Given the description of an element on the screen output the (x, y) to click on. 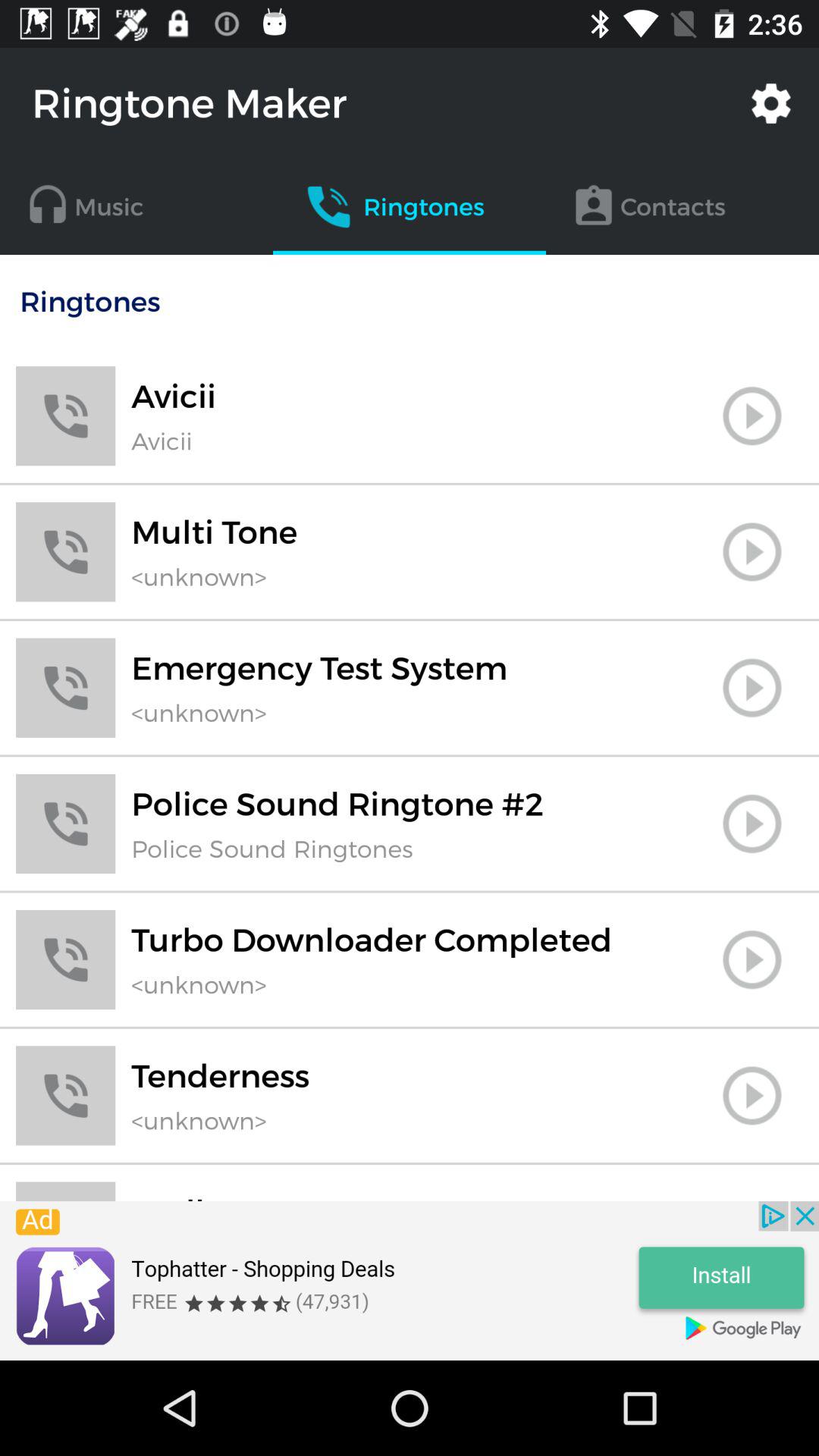
play page (752, 823)
